Given the description of an element on the screen output the (x, y) to click on. 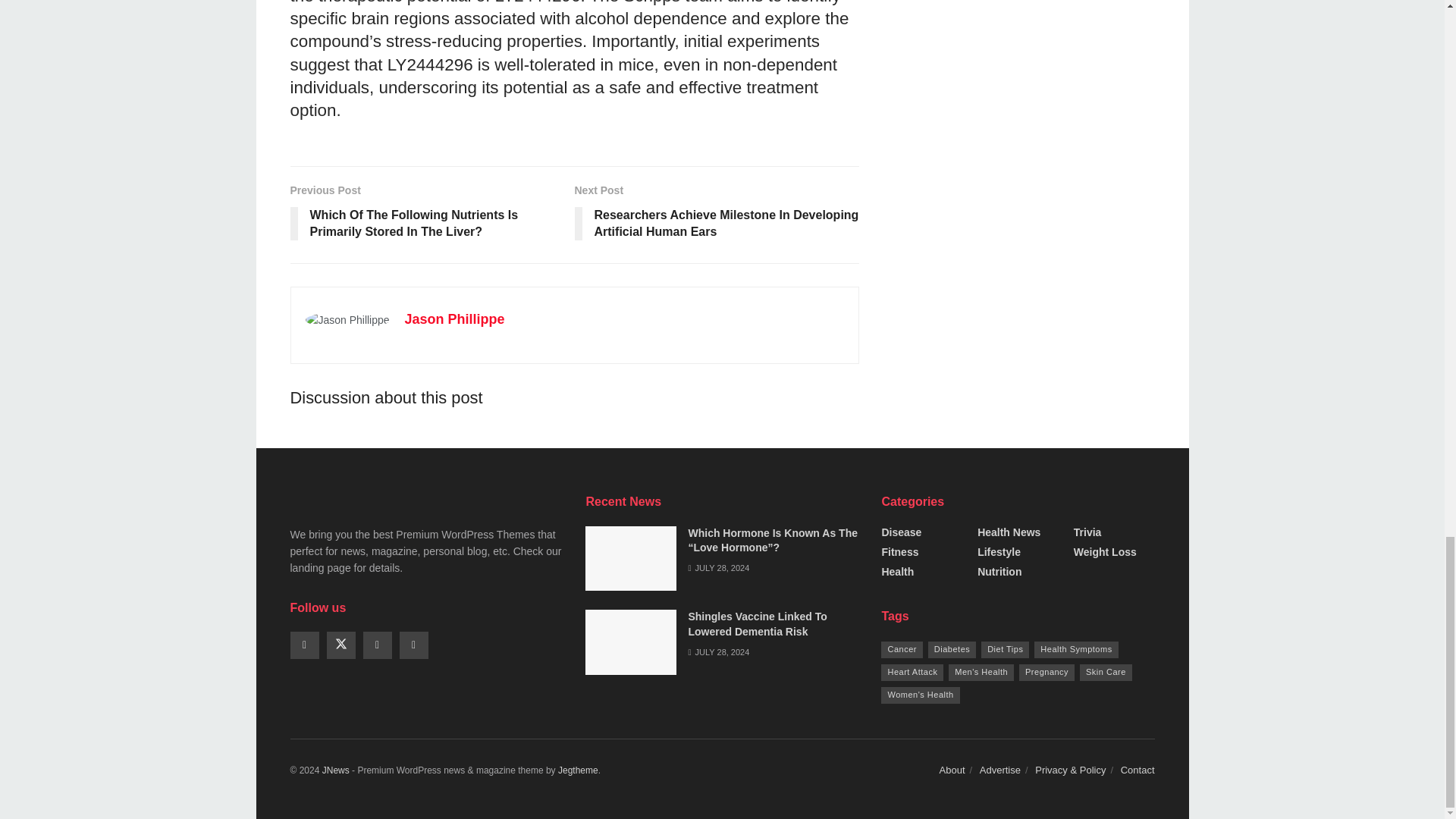
Jegtheme (577, 769)
